Given the description of an element on the screen output the (x, y) to click on. 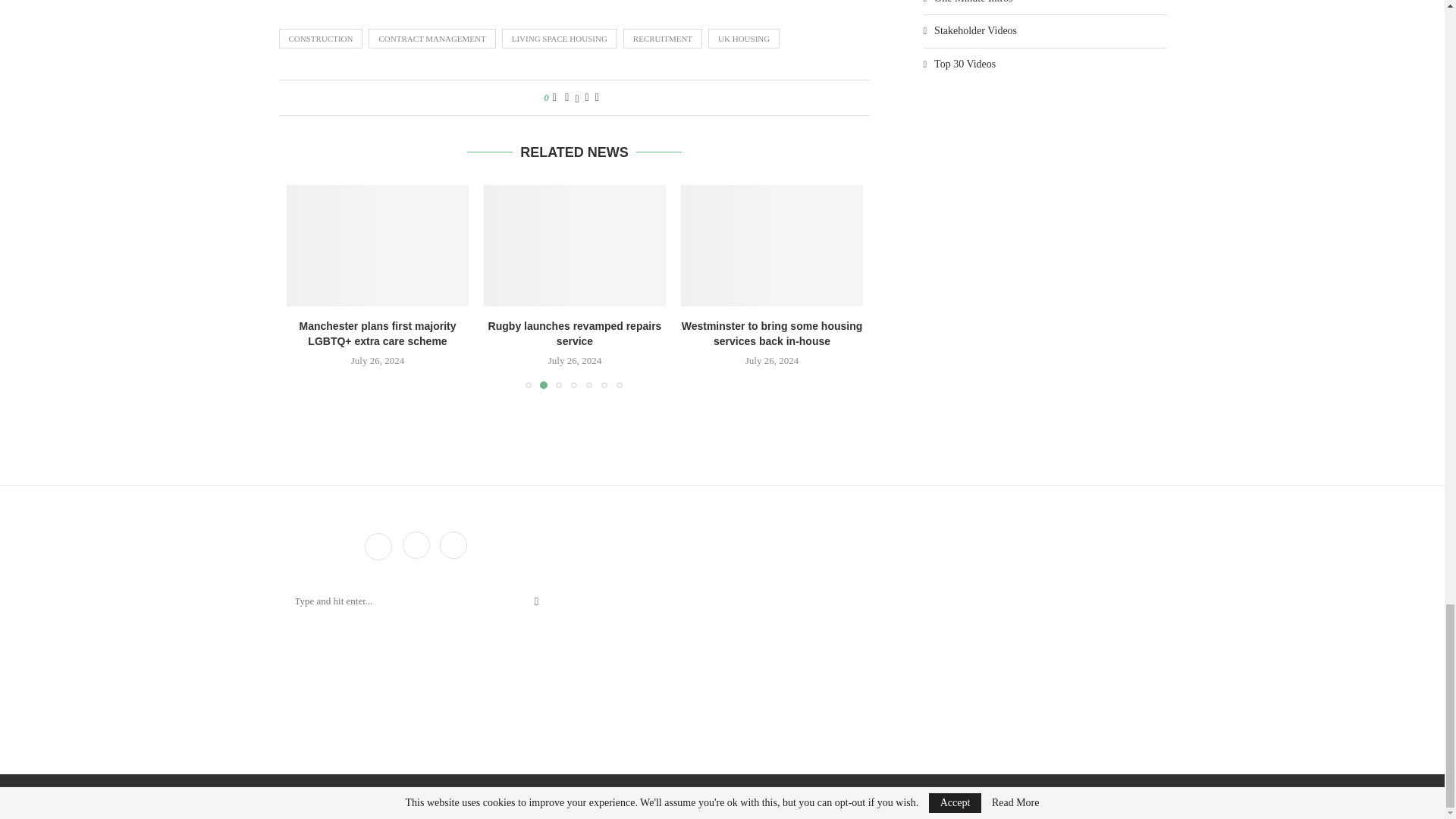
Rugby launches revamped repairs service (574, 245)
Westminster to bring some housing services back in-house (772, 245)
